Given the description of an element on the screen output the (x, y) to click on. 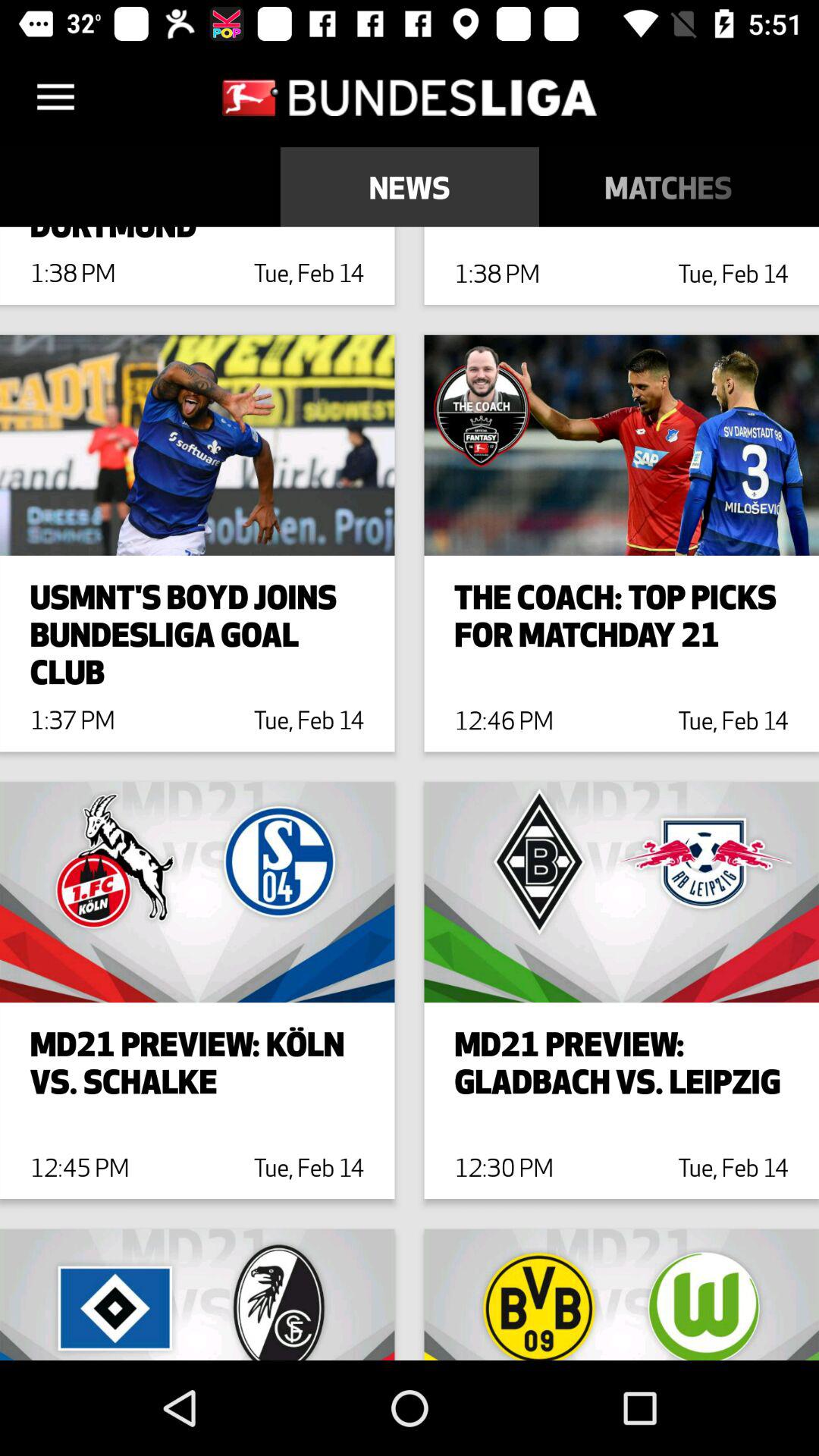
tap the icon to the right of the matches item (808, 186)
